Given the description of an element on the screen output the (x, y) to click on. 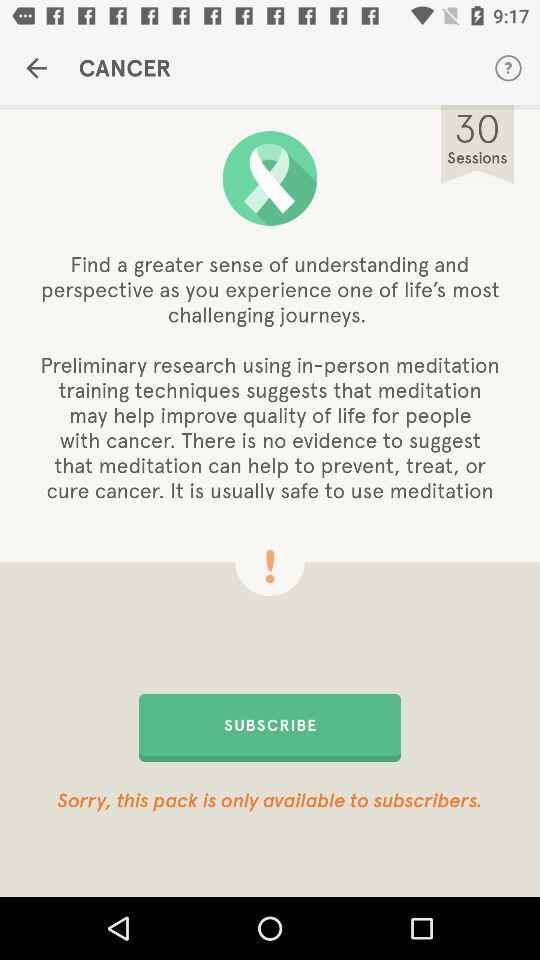
tap the icon next to the cancer (508, 67)
